Given the description of an element on the screen output the (x, y) to click on. 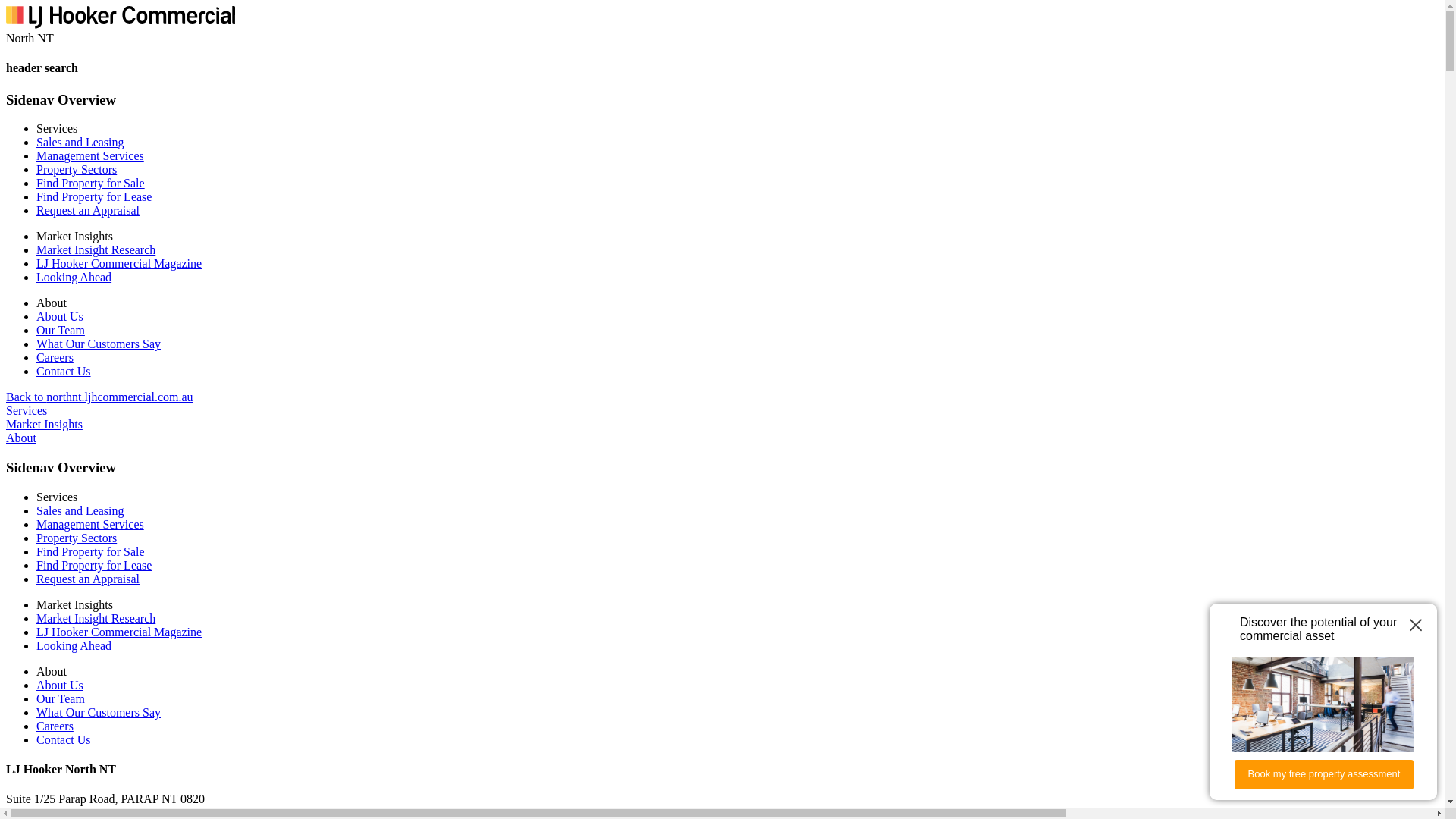
Looking Ahead Element type: text (73, 276)
Sales and Leasing Element type: text (80, 141)
About Us Element type: text (59, 316)
Request an Appraisal Element type: text (87, 578)
Property Sectors Element type: text (76, 537)
Back to northnt.ljhcommercial.com.au Element type: text (99, 396)
What Our Customers Say Element type: text (98, 712)
Market Insight Research Element type: text (95, 249)
Management Services Element type: text (90, 523)
Looking Ahead Element type: text (73, 645)
Find Property for Sale Element type: text (90, 182)
Find Property for Lease Element type: text (93, 564)
Market Insights Element type: text (44, 423)
LJ Hooker Commercial Magazine Element type: text (118, 263)
Contact Us Element type: text (63, 370)
Careers Element type: text (54, 725)
Our Team Element type: text (60, 329)
What Our Customers Say Element type: text (98, 343)
Careers Element type: text (54, 357)
Management Services Element type: text (90, 155)
LJ Hooker Commercial Magazine Element type: text (118, 631)
Market Insight Research Element type: text (95, 617)
Contact Us Element type: text (63, 739)
Property Sectors Element type: text (76, 169)
Request an Appraisal Element type: text (87, 209)
Sales and Leasing Element type: text (80, 510)
Find Property for Sale Element type: text (90, 551)
Services Element type: text (26, 410)
About Us Element type: text (59, 684)
About Element type: text (21, 437)
Find Property for Lease Element type: text (93, 196)
Our Team Element type: text (60, 698)
